Given the description of an element on the screen output the (x, y) to click on. 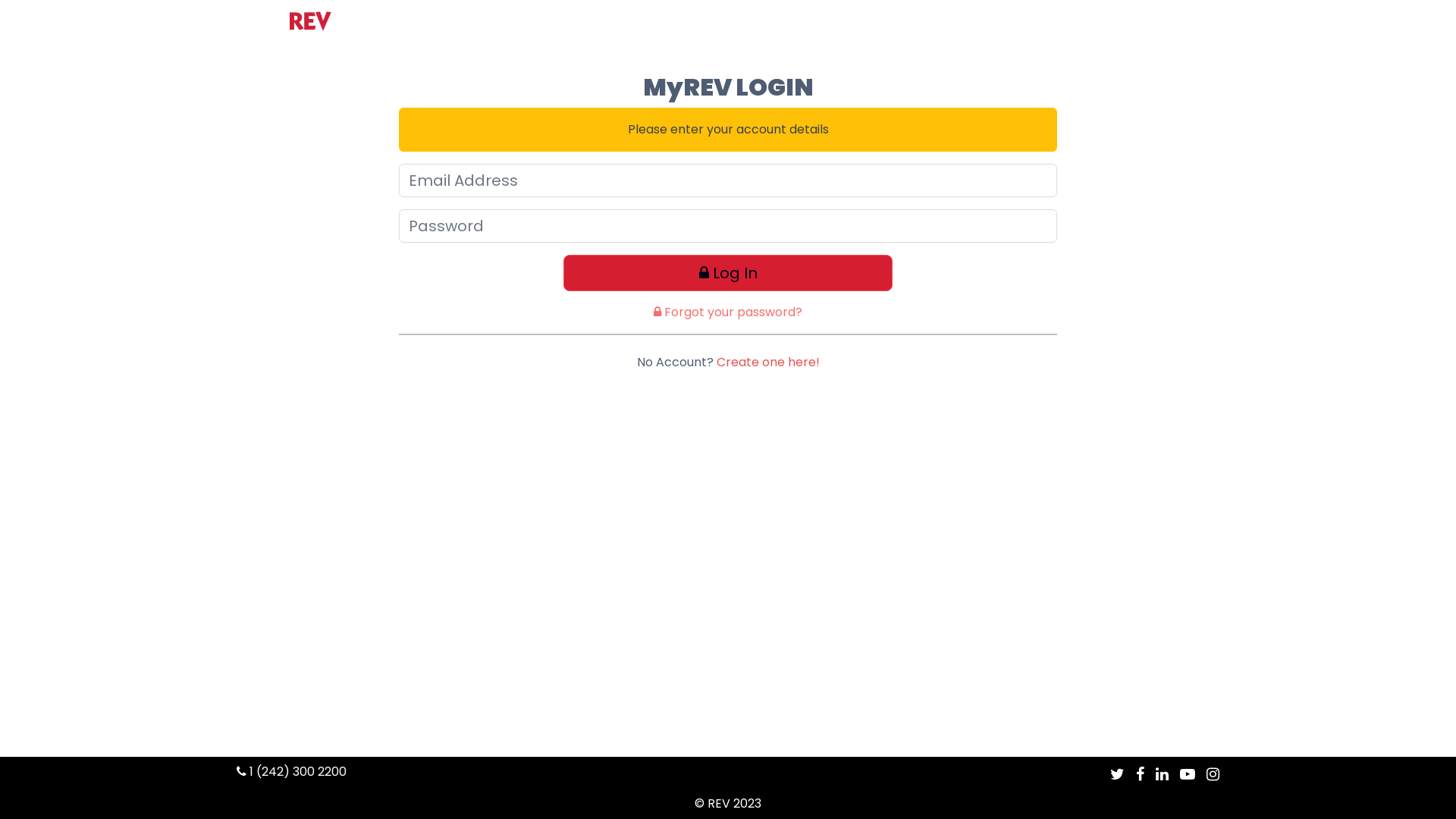
Log In Element type: text (727, 272)
Create one here! Element type: text (767, 361)
Forgot your password? Element type: text (727, 311)
